Given the description of an element on the screen output the (x, y) to click on. 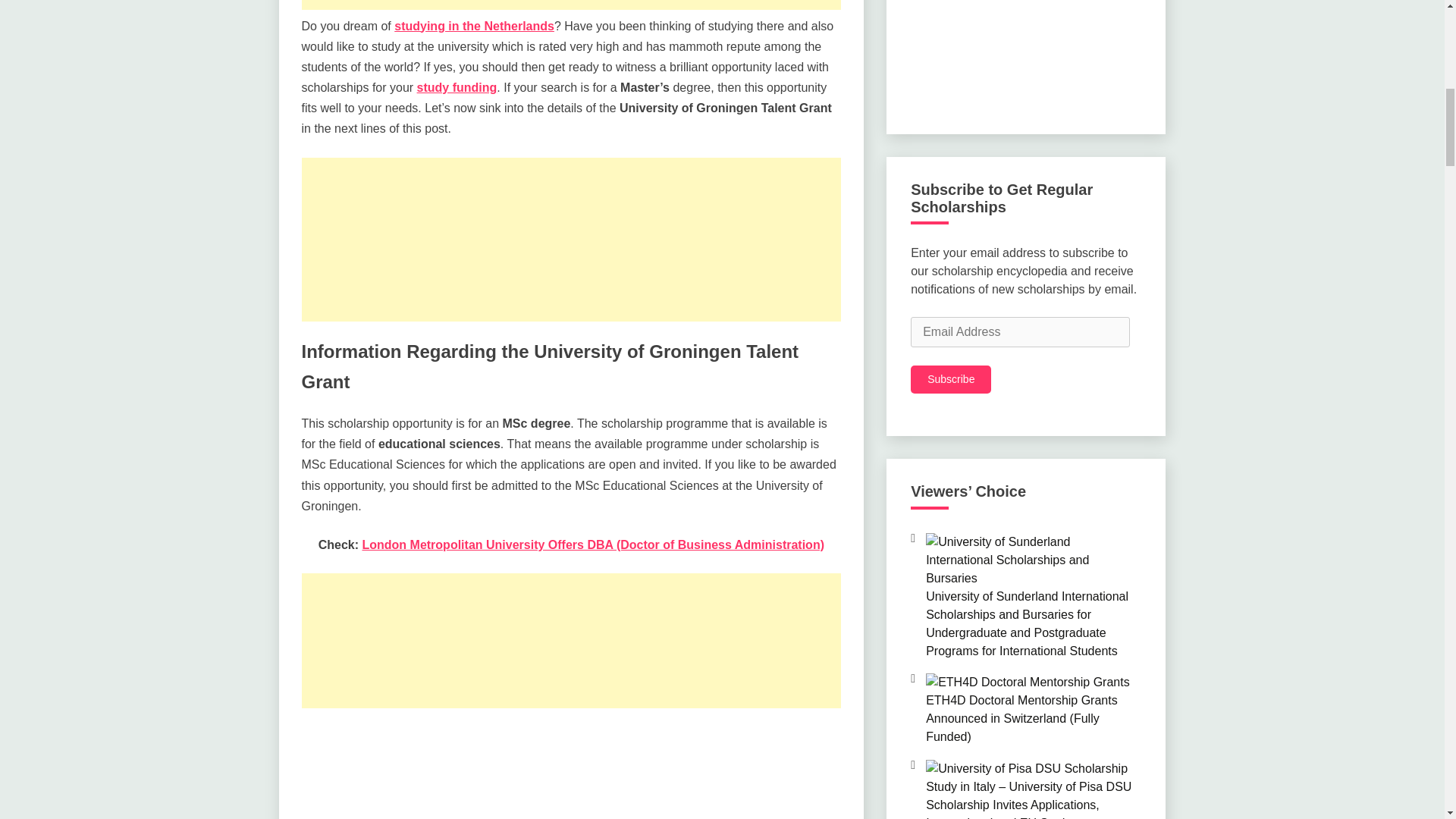
studying in the Netherlands (474, 25)
Advertisement (571, 772)
Advertisement (571, 4)
study funding (456, 87)
Advertisement (571, 239)
